Given the description of an element on the screen output the (x, y) to click on. 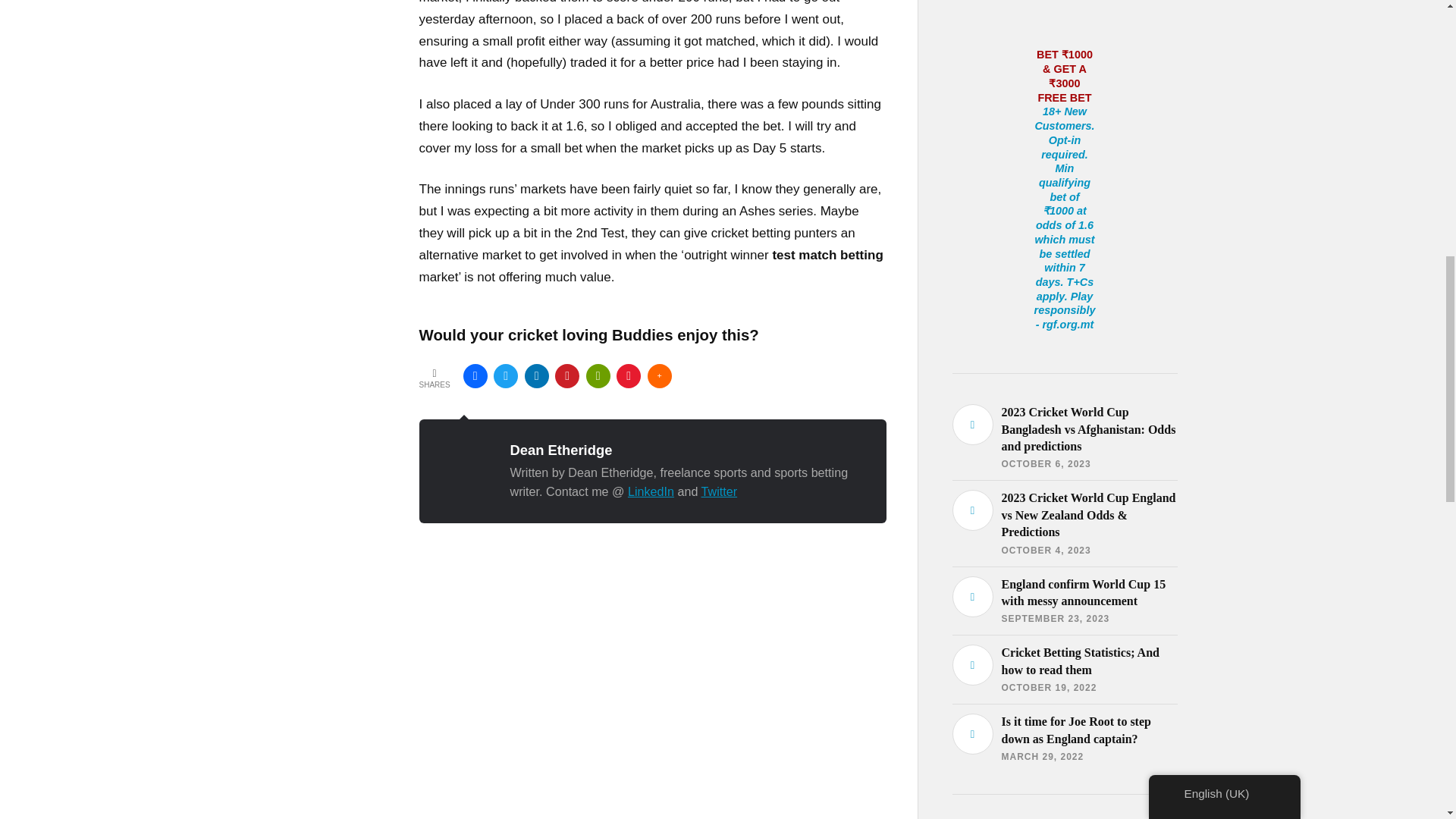
Submit this to Pinterest (566, 375)
Print this article  (598, 375)
Add this to LinkedIn (536, 375)
Share this on Facebook (475, 375)
Convert to PDF (627, 375)
Tweet this ! (505, 375)
More share links (659, 375)
